Given the description of an element on the screen output the (x, y) to click on. 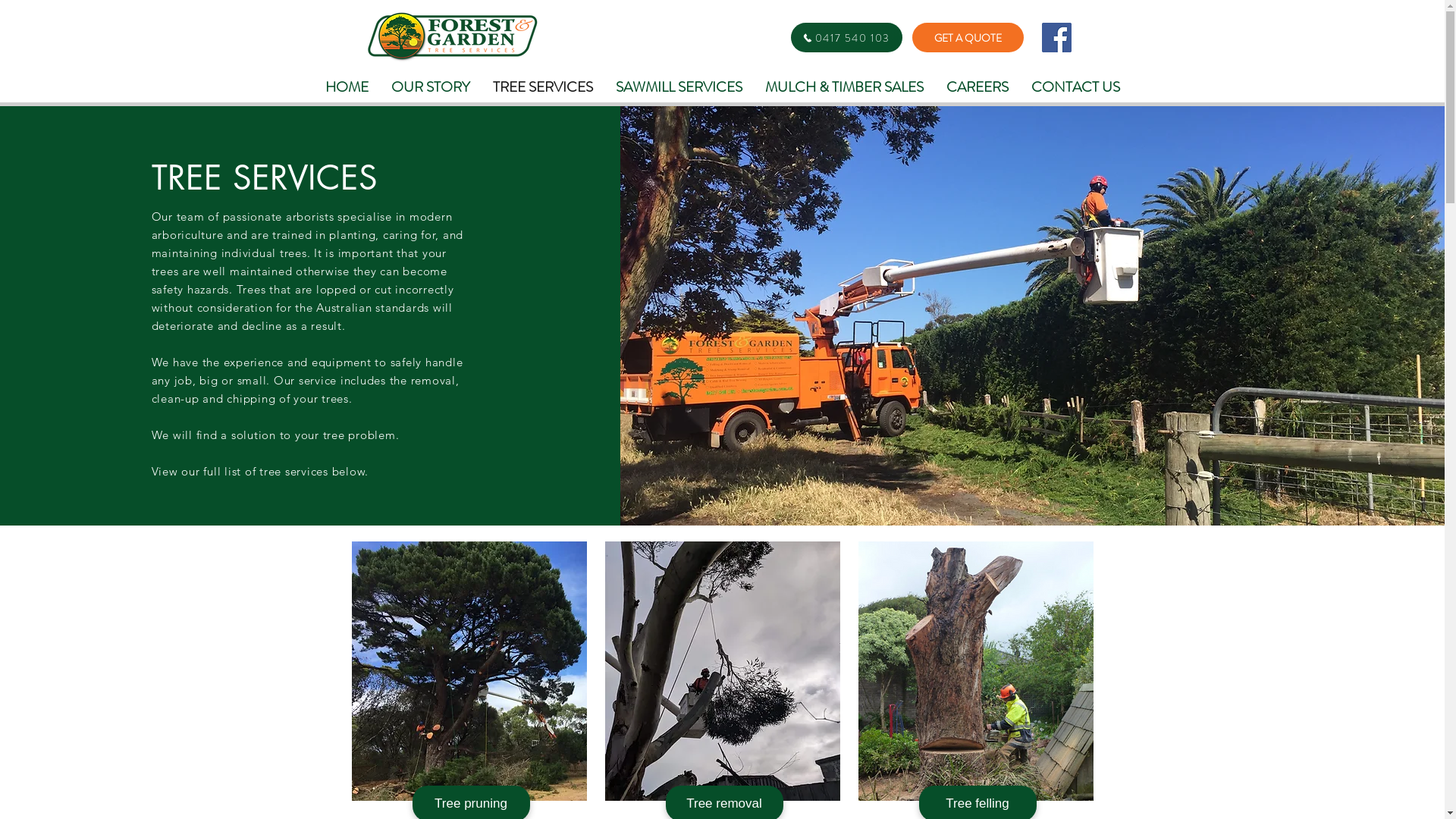
MULCH & TIMBER SALES Element type: text (844, 86)
CAREERS Element type: text (976, 86)
CONTACT US Element type: text (1074, 86)
HOME Element type: text (346, 86)
TREE SERVICES Element type: text (541, 86)
SAWMILL SERVICES Element type: text (678, 86)
GET A QUOTE Element type: text (966, 37)
0417 540 103 Element type: text (845, 37)
OUR STORY Element type: text (429, 86)
